Given the description of an element on the screen output the (x, y) to click on. 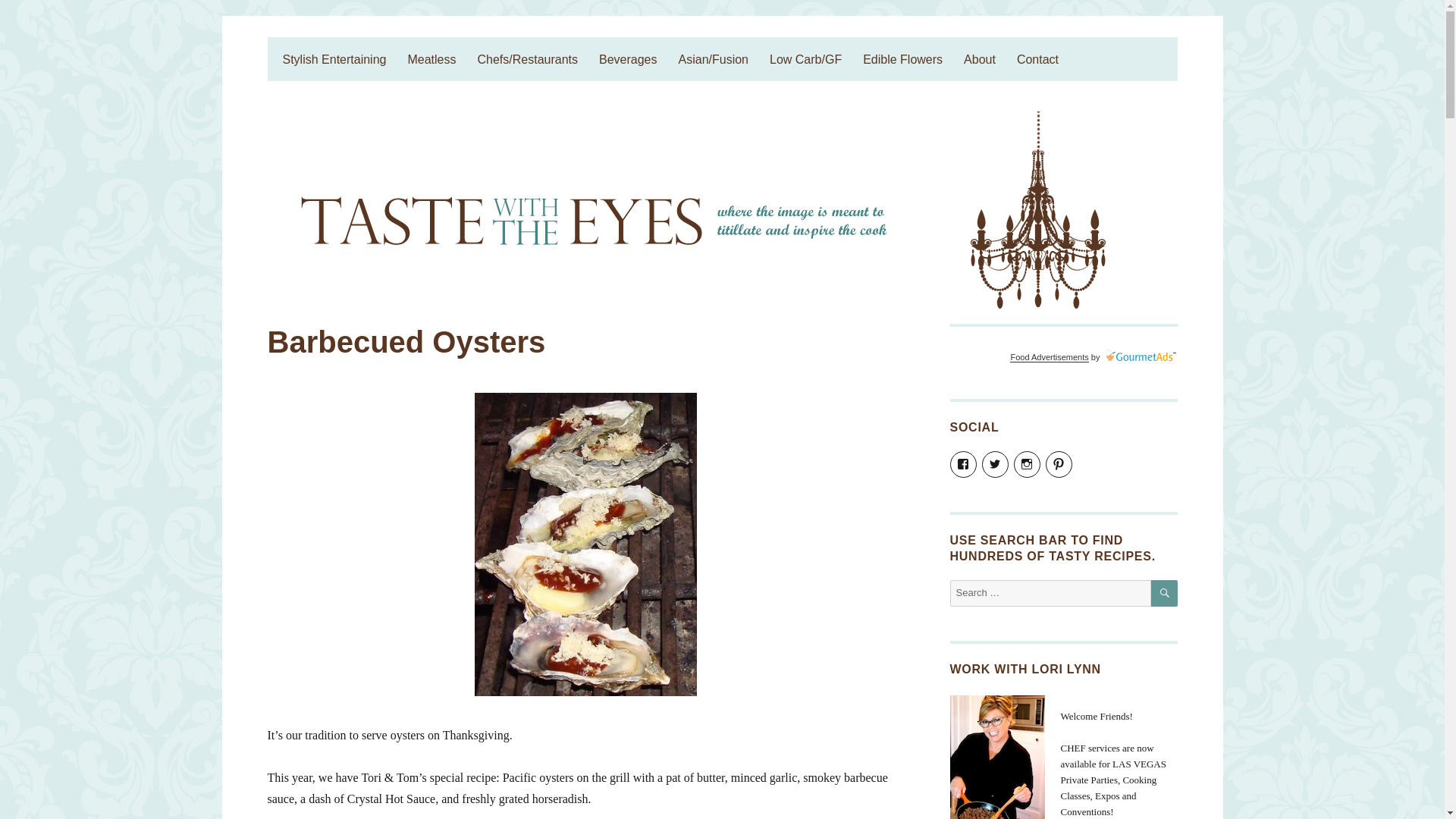
Edible Flowers (902, 59)
Beverages (628, 59)
Stylish Entertaining (333, 59)
Taste With The Eyes (368, 50)
About (979, 59)
Contact (1037, 59)
Meatless (430, 59)
Food Advertisements (1048, 356)
